Given the description of an element on the screen output the (x, y) to click on. 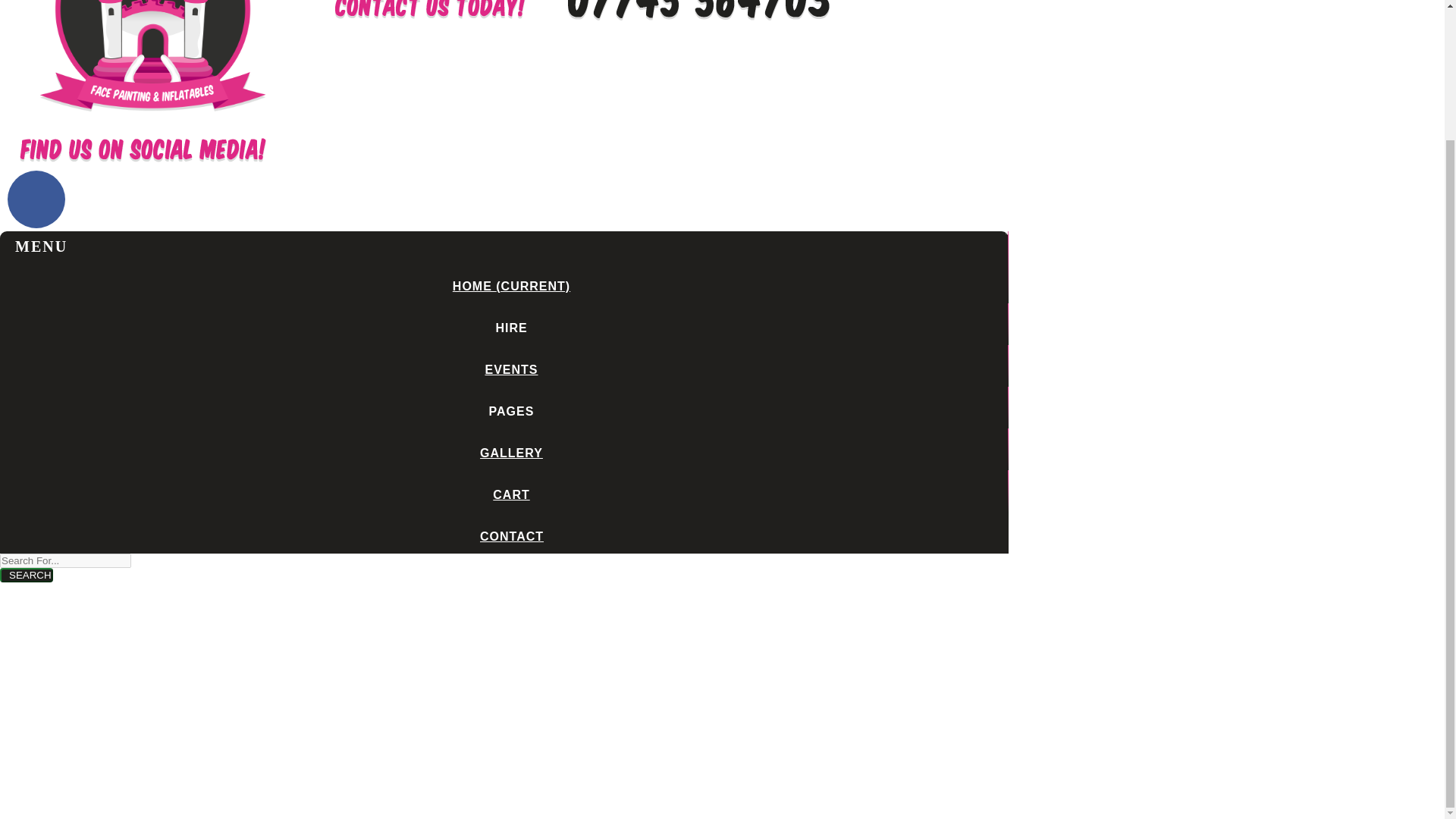
Artists Harvest (152, 122)
PAGES (507, 410)
SEARCH (26, 575)
HIRE (507, 327)
Call us today! (698, 19)
CART (507, 494)
GALLERY (507, 452)
CONTACT (508, 536)
EVENTS (507, 369)
